Given the description of an element on the screen output the (x, y) to click on. 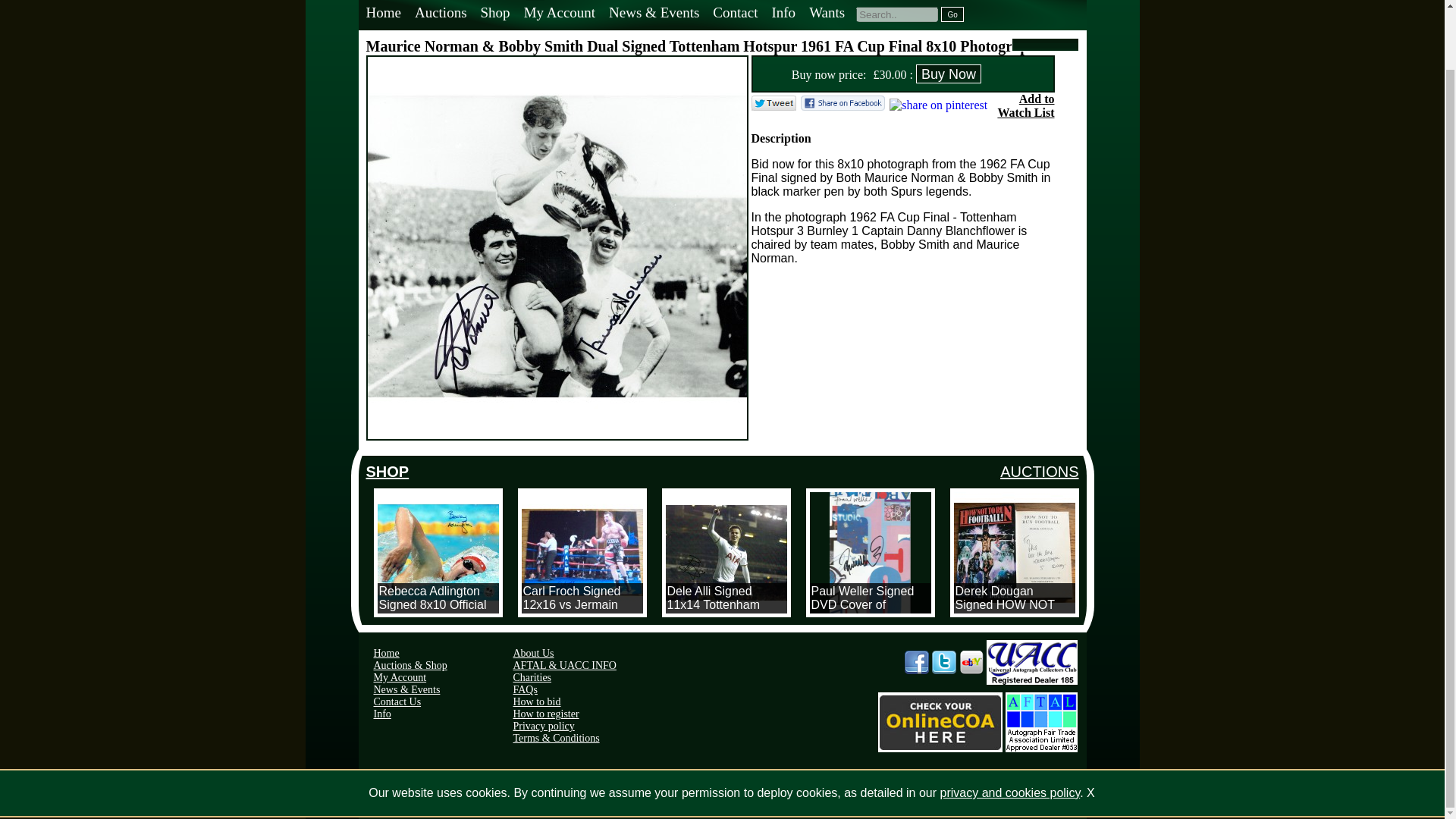
Derek Dougan Signed HOW NOT TO RUN FOOTBALL Hardback Book (1014, 552)
Contact (733, 13)
Go (951, 14)
Shop (494, 13)
Add to Watch List (1025, 105)
Paul Weller Signed DVD Cover of Studio150. (870, 552)
Go (951, 14)
Dele Alli Signed 11x14 Tottenham Hotspur Photograph (726, 552)
Carl Froch Signed 12x16 vs Jermain Taylor Photograph (582, 552)
My Account (558, 13)
Info (782, 13)
SHOP (387, 471)
Auctions (440, 13)
Buy Now (948, 73)
